Given the description of an element on the screen output the (x, y) to click on. 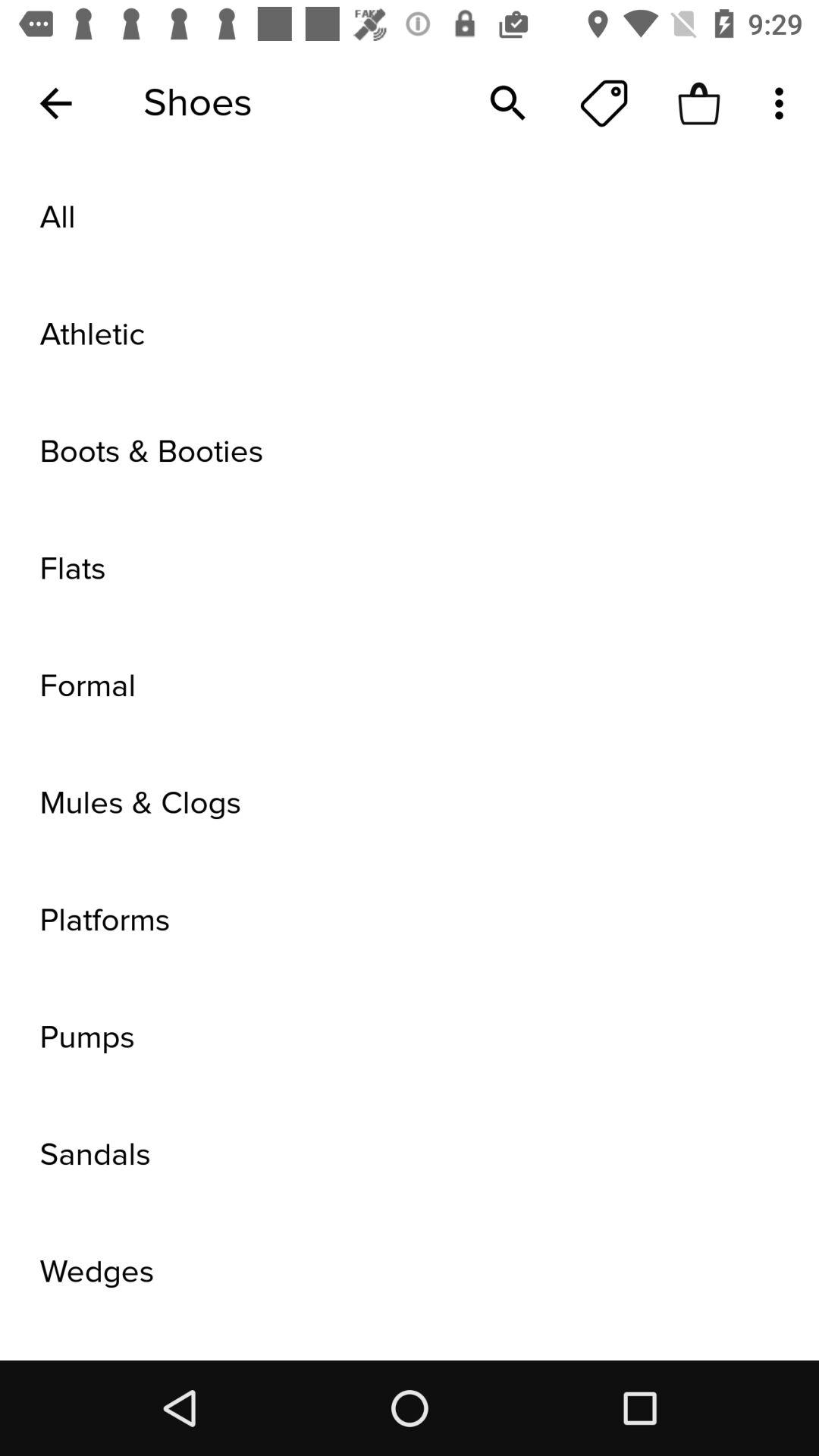
open platforms icon (409, 920)
